Given the description of an element on the screen output the (x, y) to click on. 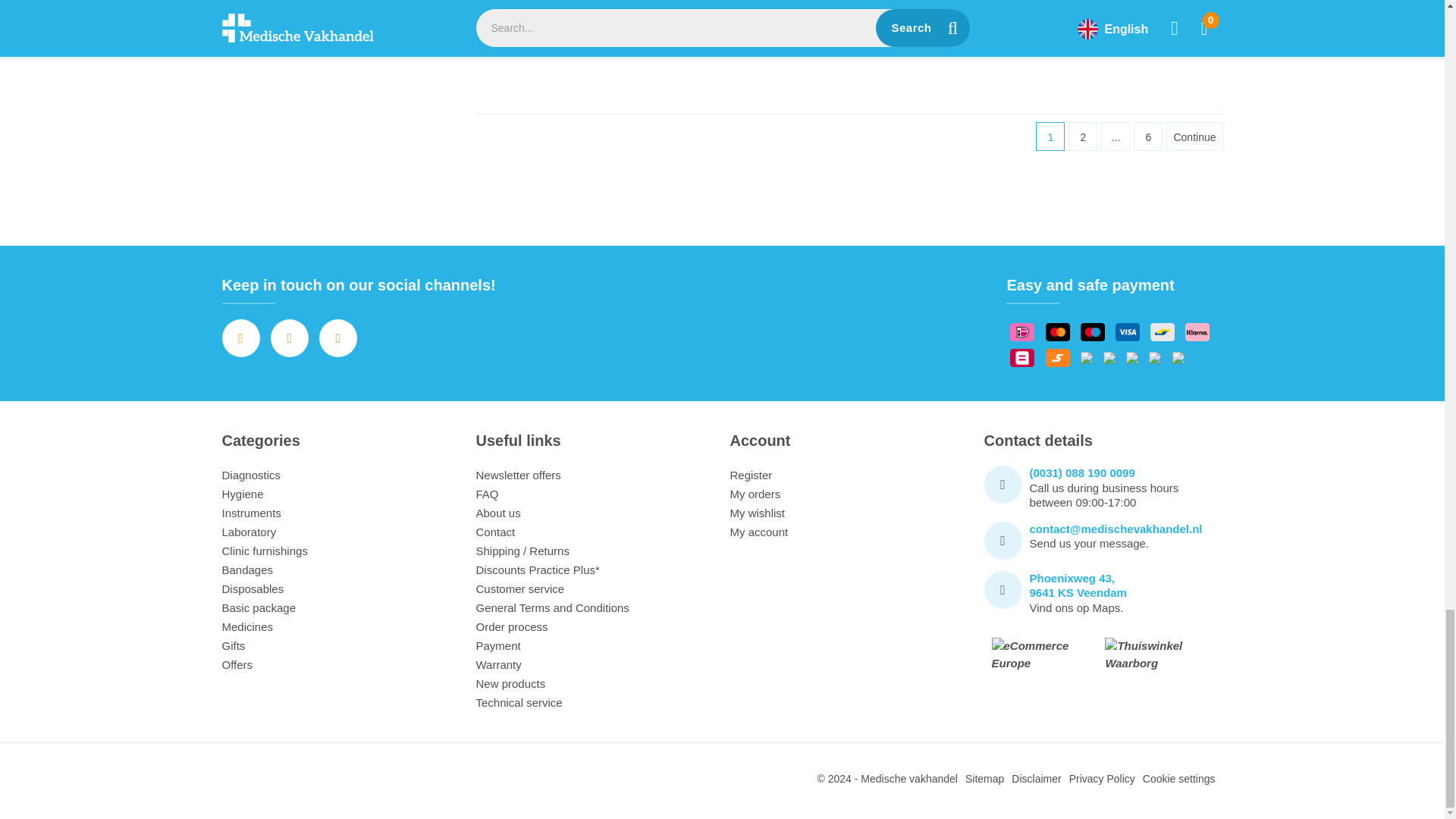
eCommerce Europe (1040, 654)
1 (532, 45)
Thuiswinkel Waarborg (1160, 654)
